Given the description of an element on the screen output the (x, y) to click on. 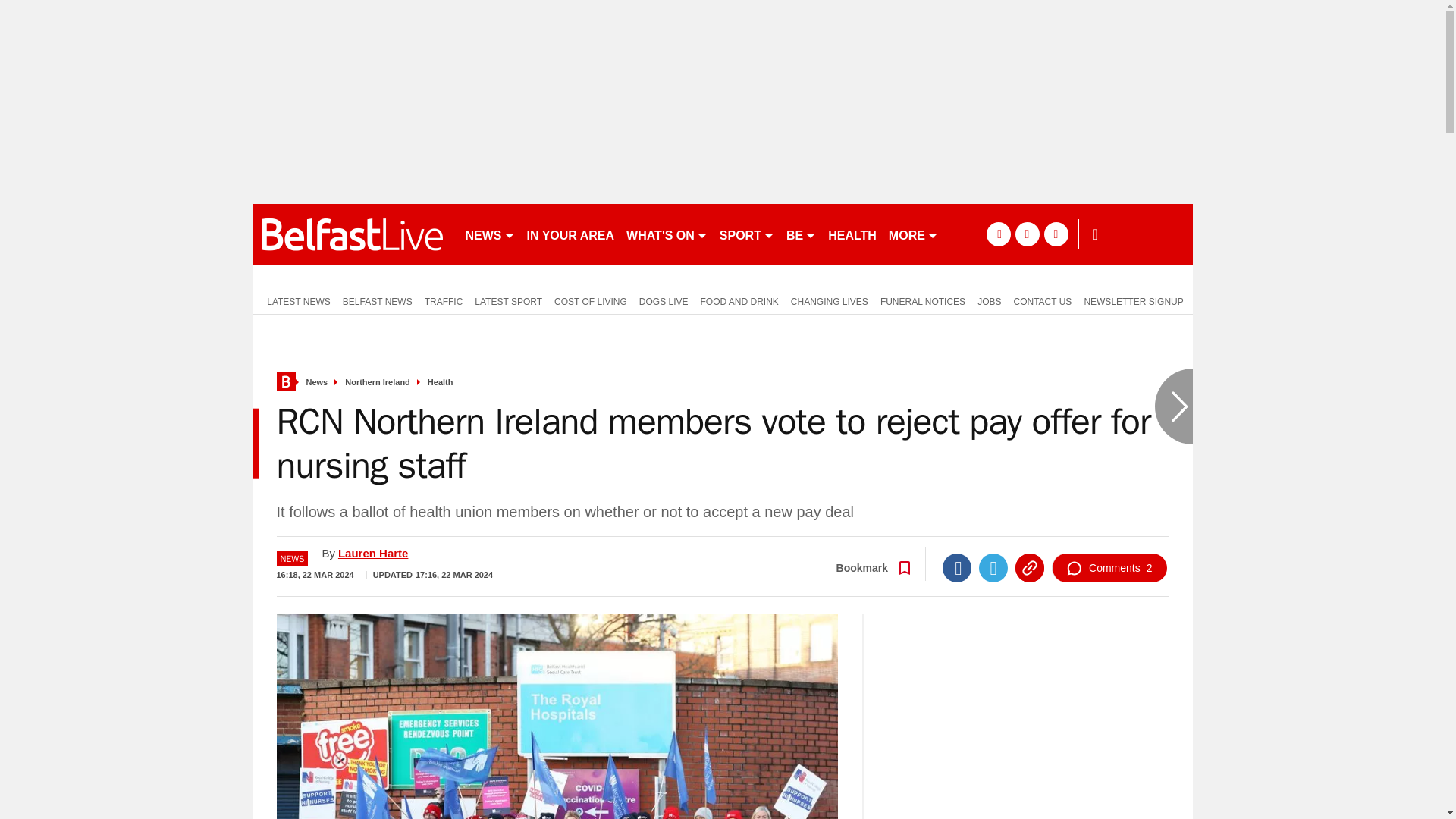
instagram (1055, 233)
Facebook (956, 567)
facebook (997, 233)
belfastlive (351, 233)
SPORT (746, 233)
IN YOUR AREA (569, 233)
twitter (1026, 233)
WHAT'S ON (666, 233)
Comments (1108, 567)
NEWS (490, 233)
